Given the description of an element on the screen output the (x, y) to click on. 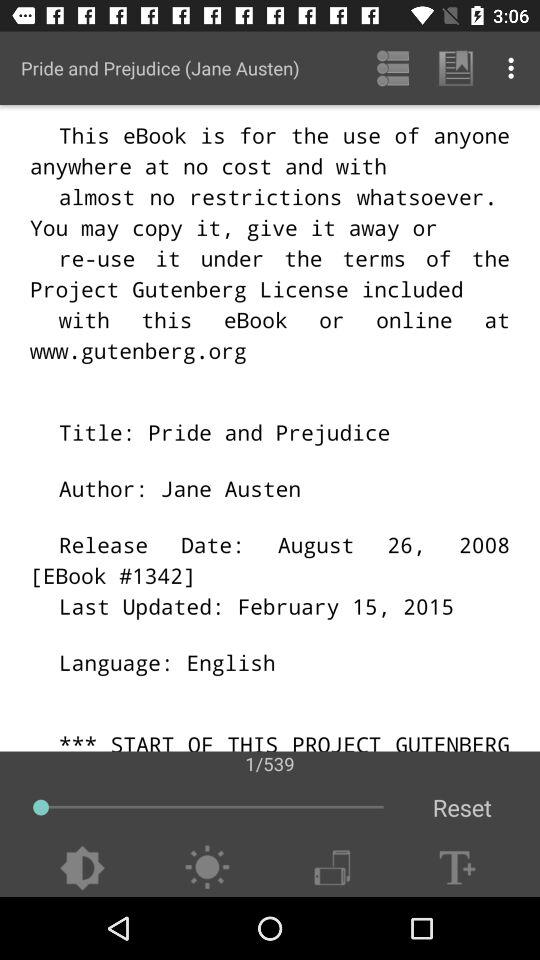
open icon above 1/539 (392, 67)
